Given the description of an element on the screen output the (x, y) to click on. 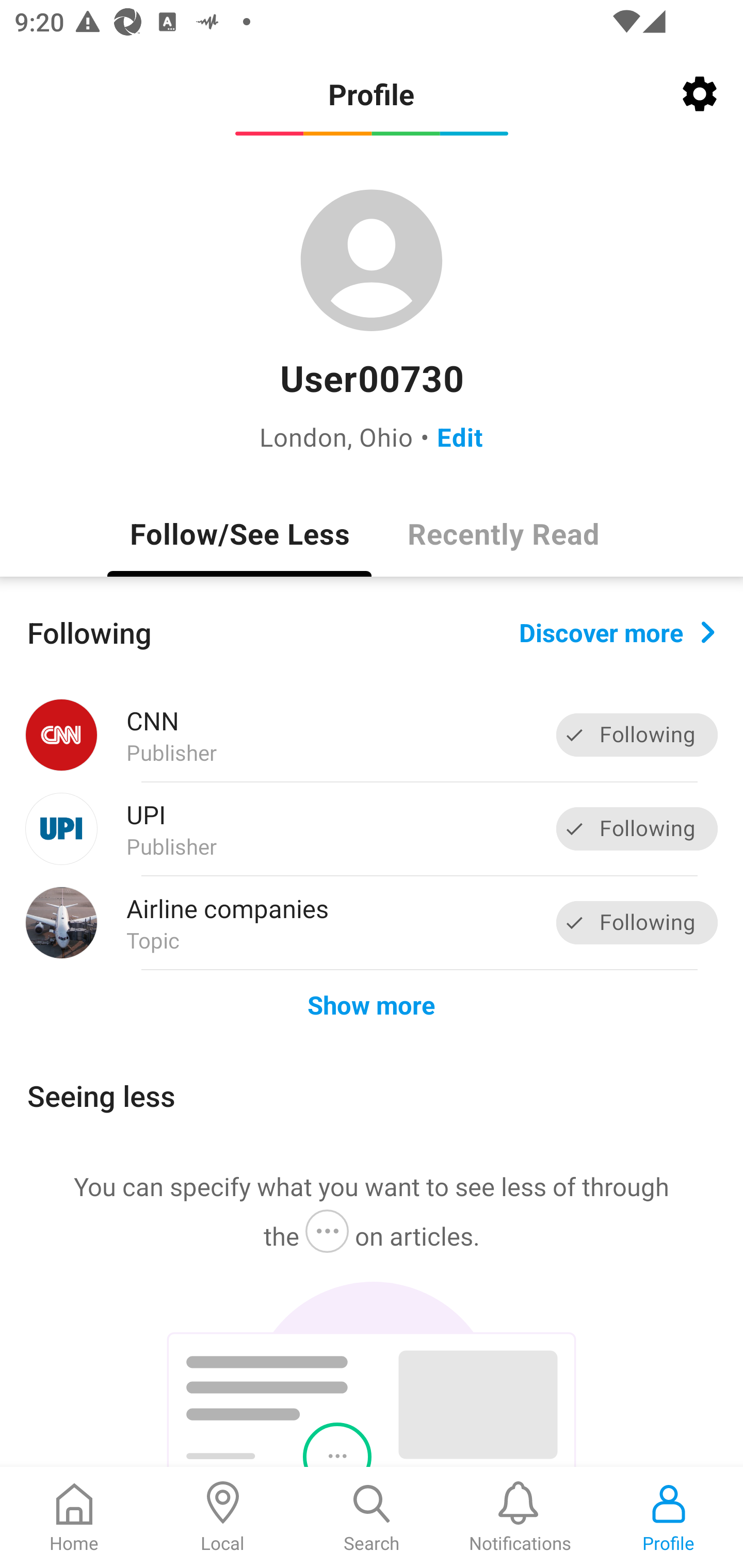
Settings (699, 93)
Edit (459, 436)
Recently Read (503, 533)
Discover more (617, 631)
CNN Publisher Following (371, 735)
Following (636, 735)
UPI Publisher Following (371, 829)
Following (636, 828)
Airline companies Topic Following (371, 922)
Following (636, 922)
Show more (371, 1004)
Home (74, 1517)
Local (222, 1517)
Search (371, 1517)
Notifications (519, 1517)
